Given the description of an element on the screen output the (x, y) to click on. 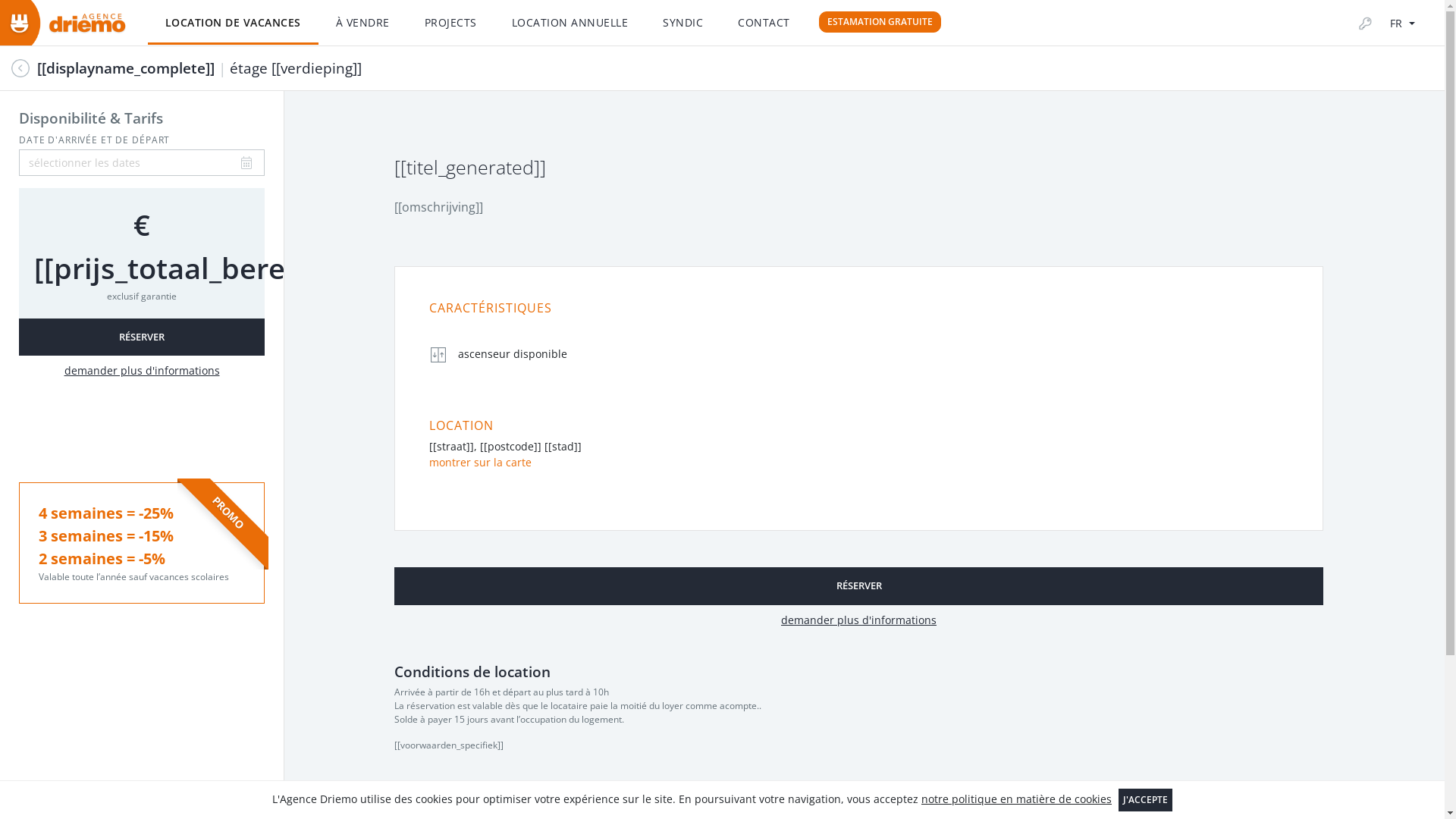
PROJECTS Element type: text (450, 23)
SYNDIC Element type: text (682, 23)
LOCATION DE VACANCES Element type: text (233, 23)
ESTAMATION GRATUITE Element type: text (880, 21)
J'ACCEPTE Element type: text (1145, 799)
LOCATION ANNUELLE Element type: text (569, 23)
FR Element type: text (1402, 23)
demander plus d'informations Element type: text (858, 620)
demander plus d'informations Element type: text (141, 371)
montrer sur la carte Element type: text (480, 462)
CONTACT Element type: text (763, 23)
